Given the description of an element on the screen output the (x, y) to click on. 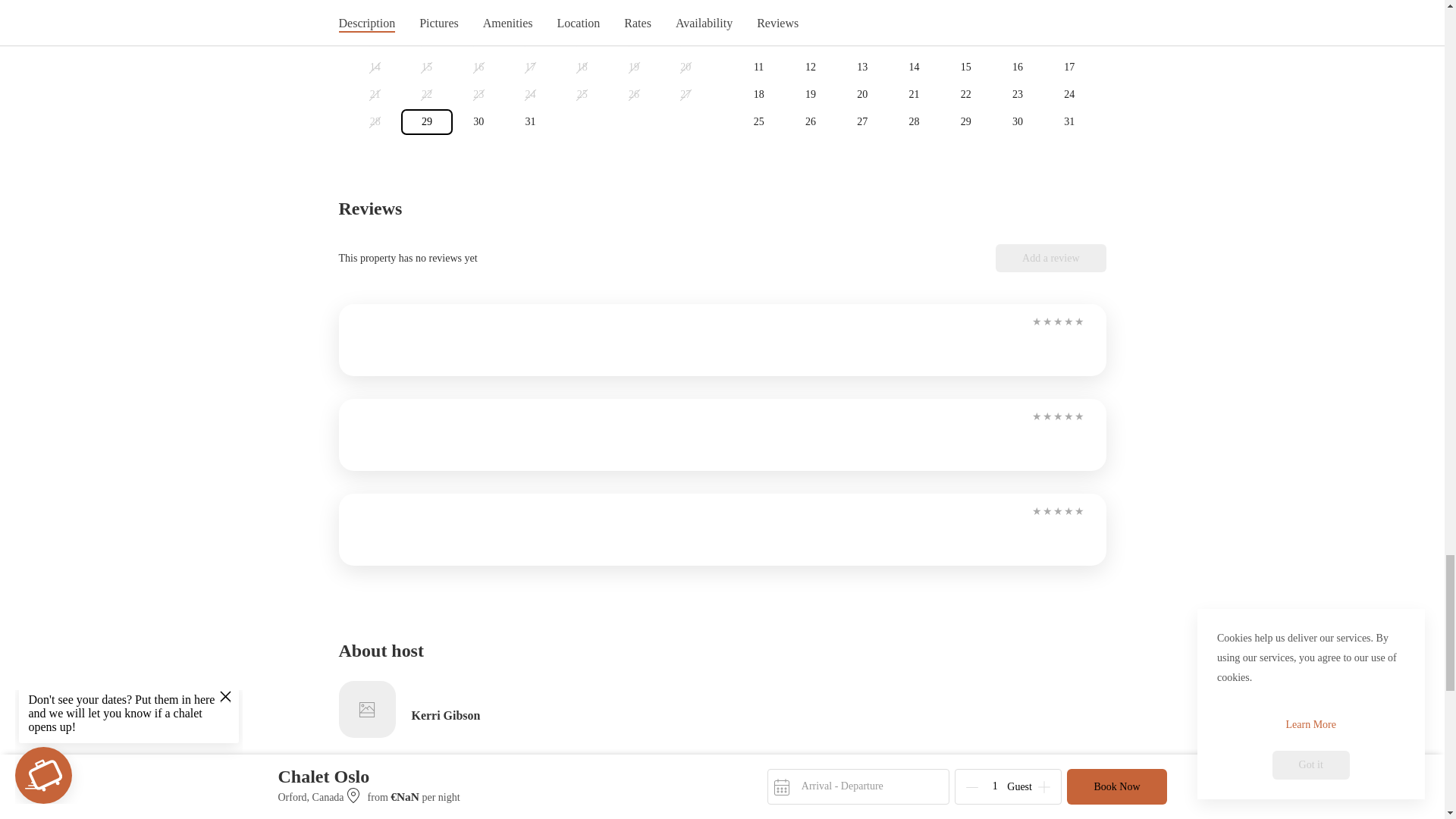
Add a review (1050, 257)
